Given the description of an element on the screen output the (x, y) to click on. 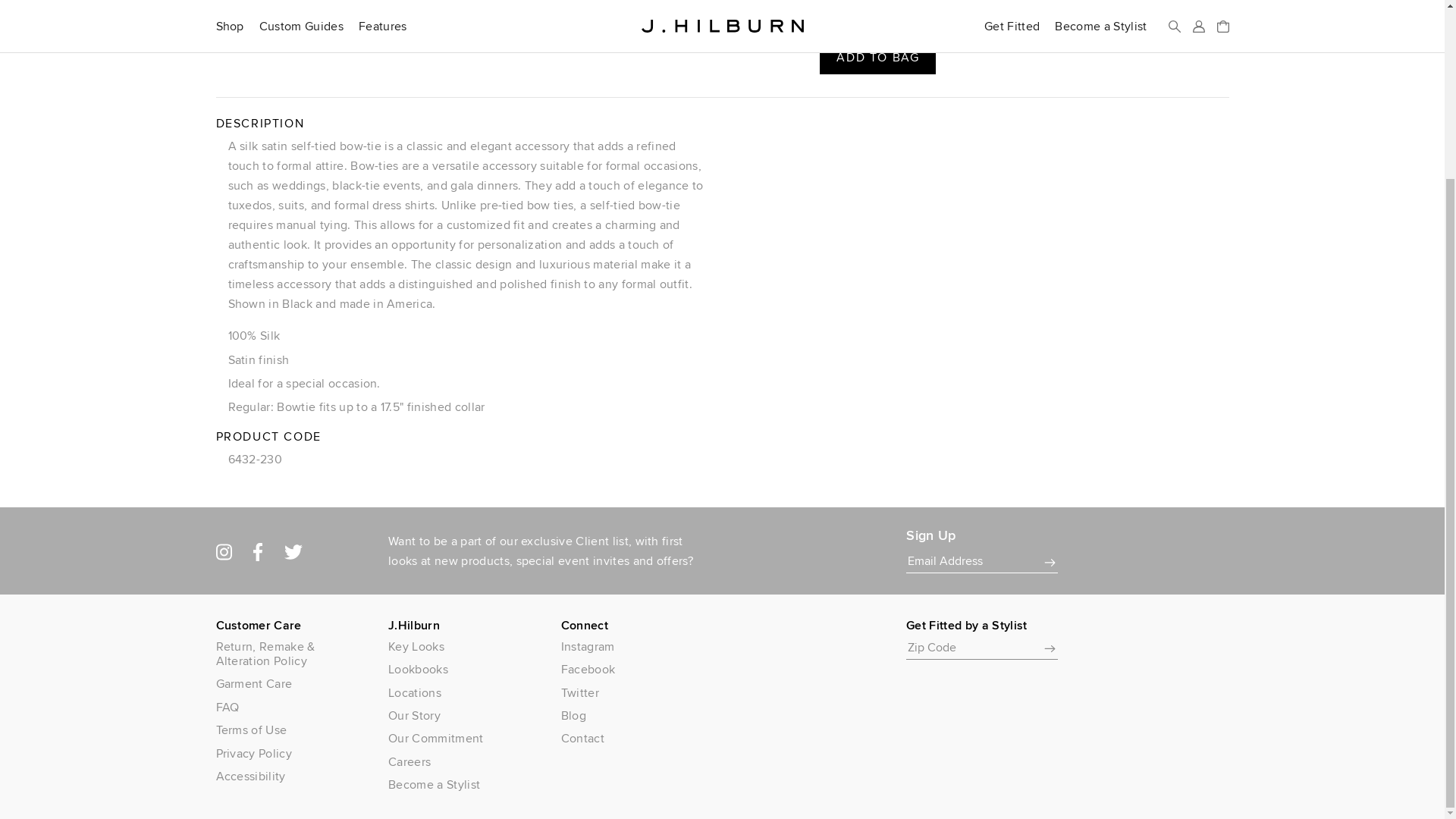
Add to Bag (877, 57)
